Given the description of an element on the screen output the (x, y) to click on. 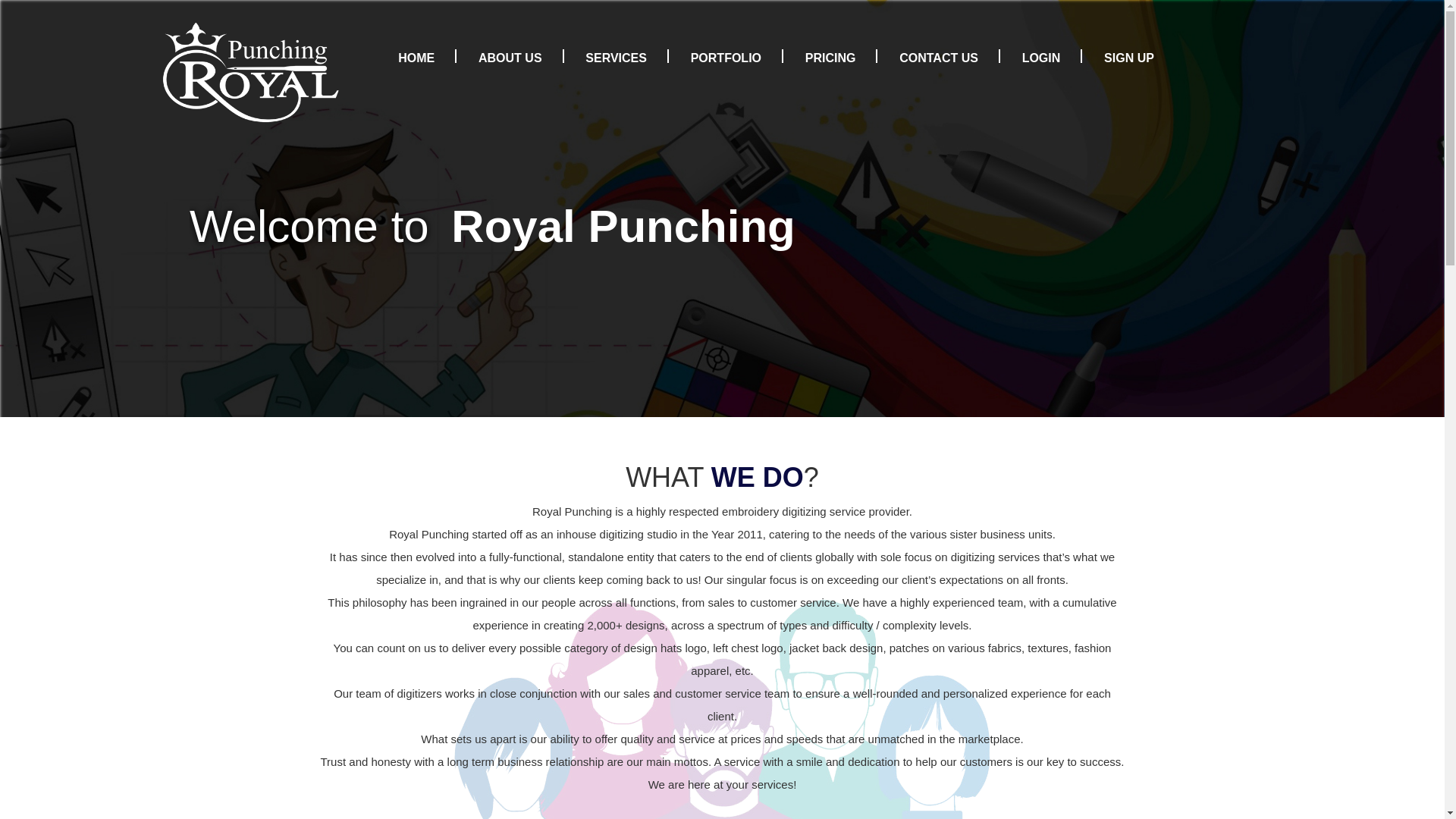
CONTACT US (937, 58)
PORTFOLIO (725, 58)
LOGIN (1041, 58)
ABOUT US (510, 58)
HOME (415, 58)
PRICING (830, 58)
SIGN UP (1129, 58)
SERVICES (616, 58)
